Given the description of an element on the screen output the (x, y) to click on. 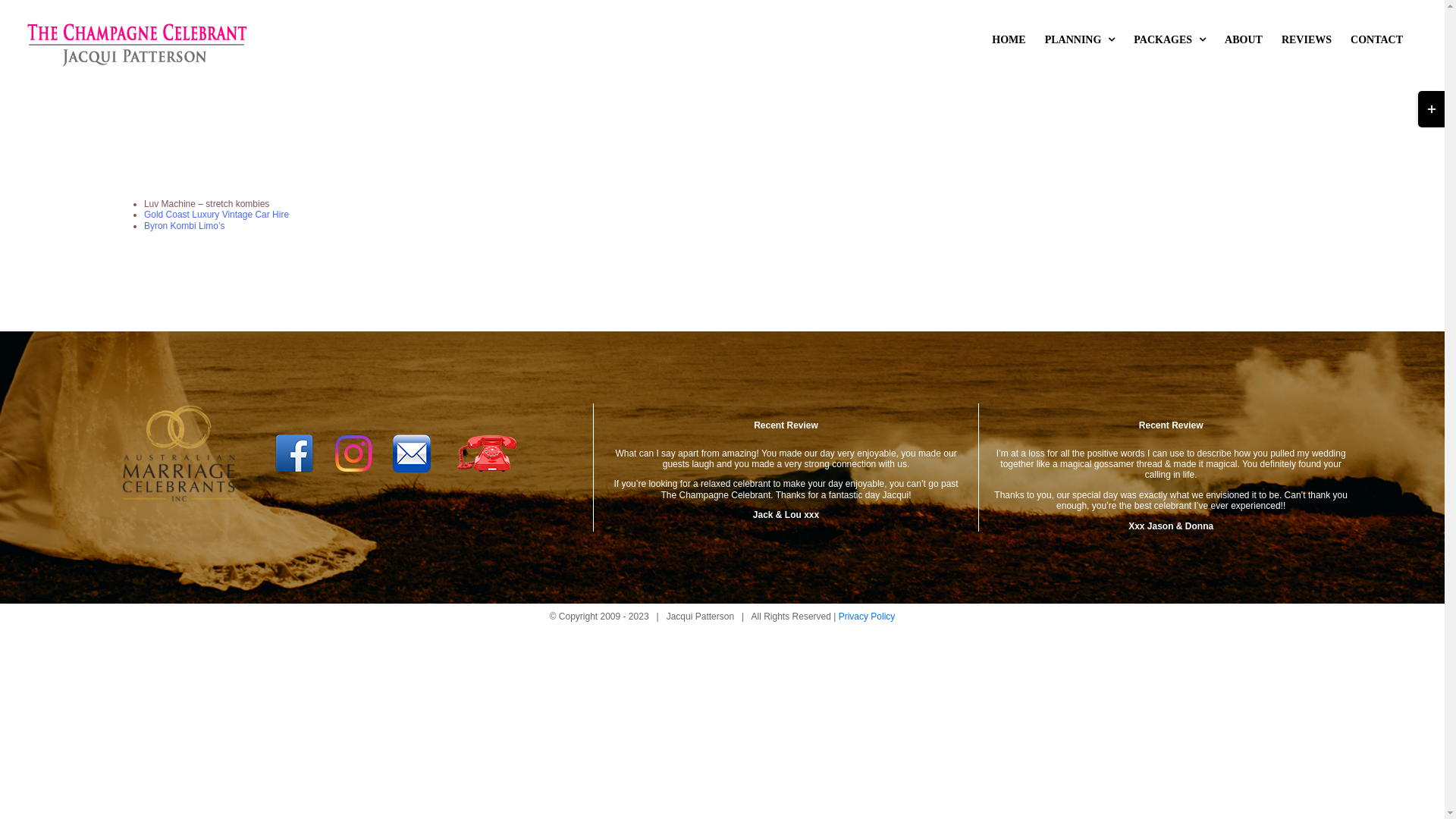
REVIEWS Element type: text (1306, 39)
PACKAGES Element type: text (1169, 39)
Gold Coast Luxury Vintage Car Hire Element type: text (216, 214)
PLANNING Element type: text (1079, 39)
CONTACT Element type: text (1376, 39)
Toggle Sliding Bar Area Element type: text (1431, 109)
HOME Element type: text (1008, 39)
Privacy Policy Element type: text (866, 616)
ABOUT Element type: text (1243, 39)
